Given the description of an element on the screen output the (x, y) to click on. 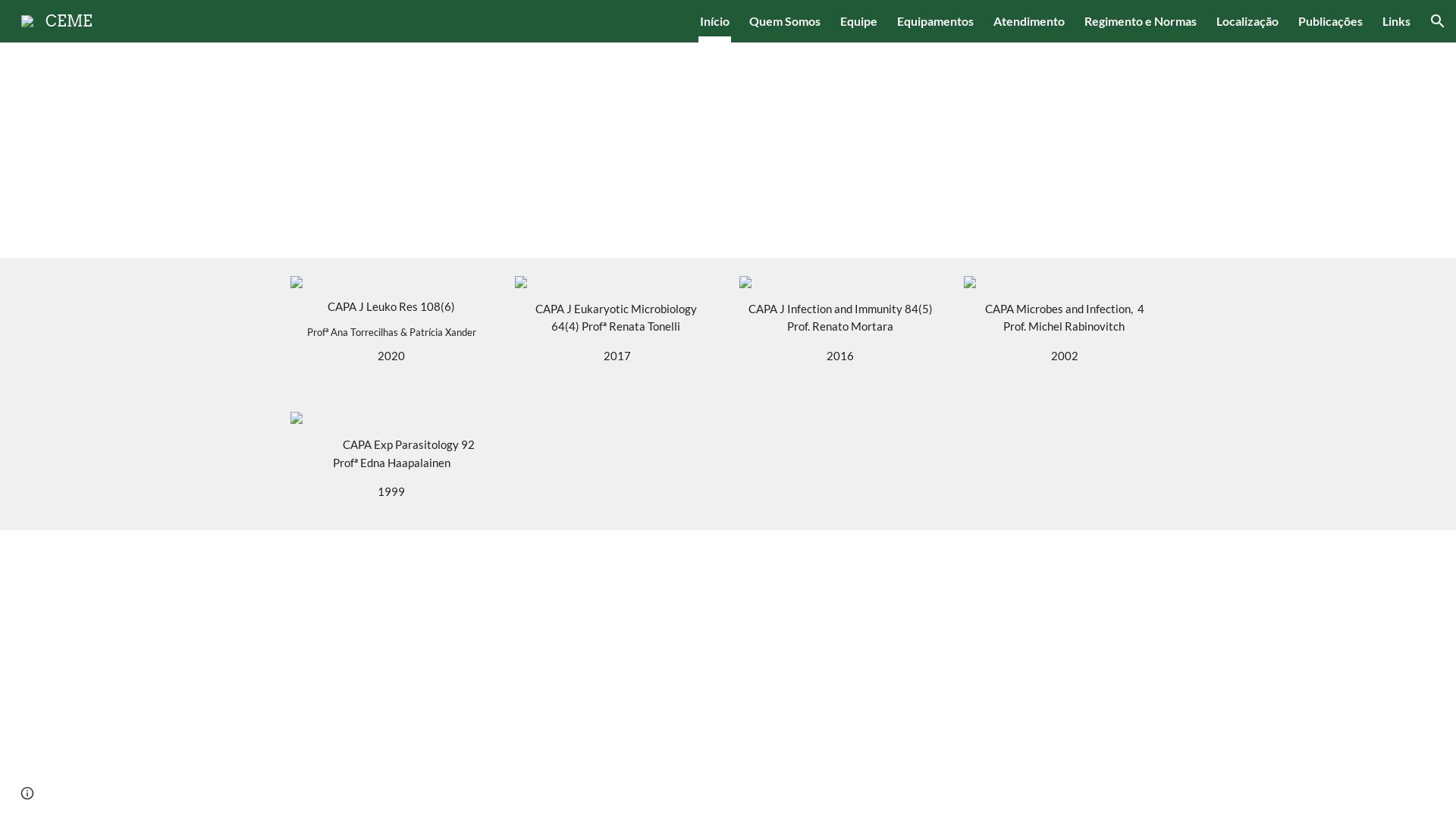
Equipamentos Element type: text (935, 20)
Equipe Element type: text (858, 20)
Quem Somos Element type: text (784, 20)
Atendimento Element type: text (1028, 20)
CEME Element type: text (56, 19)
Regimento e Normas Element type: text (1140, 20)
Links Element type: text (1396, 20)
